Given the description of an element on the screen output the (x, y) to click on. 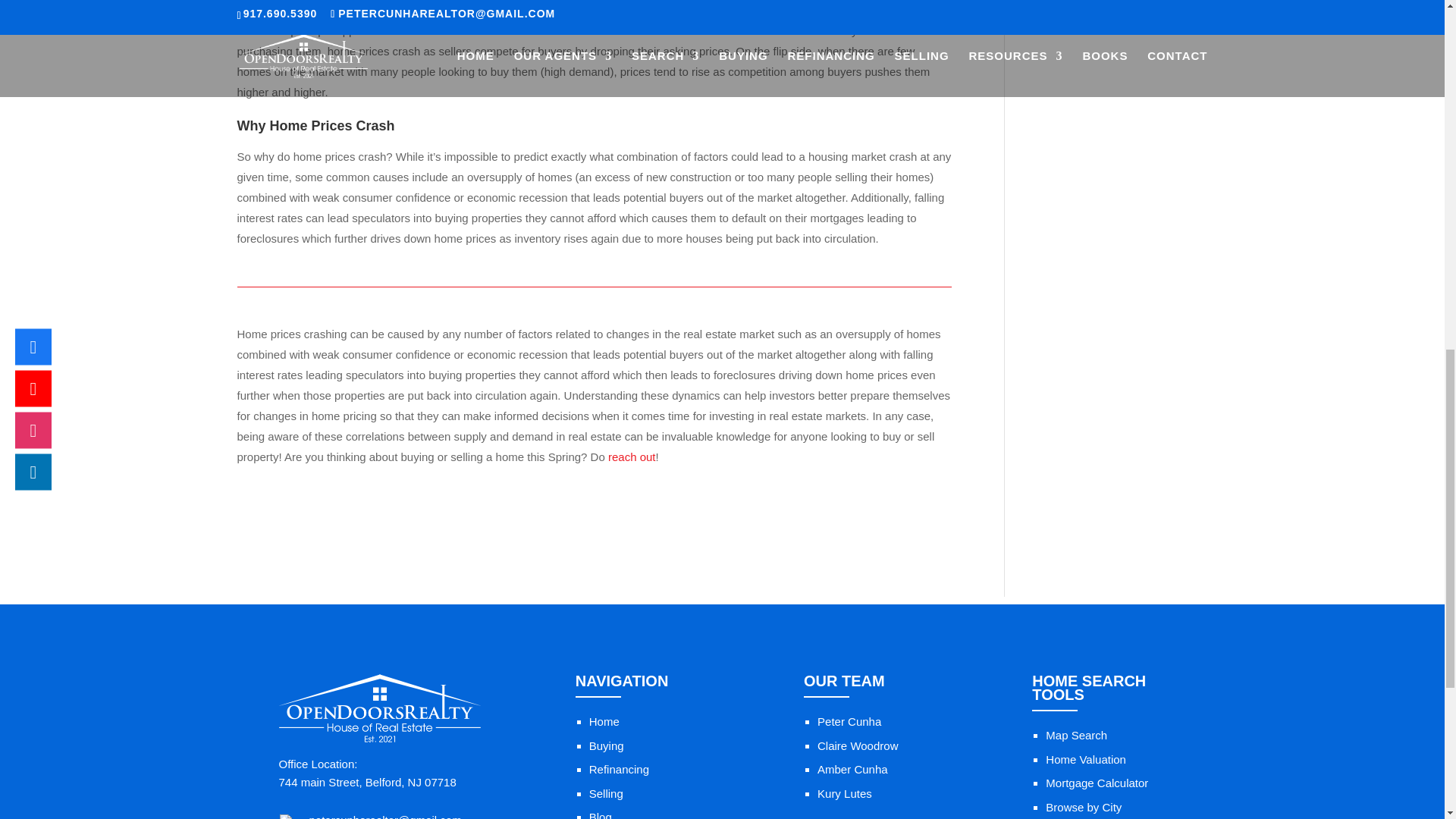
reach out (632, 456)
Home (604, 721)
Selling (606, 793)
Refinancing (619, 768)
Buying (606, 745)
Blog (600, 814)
